Given the description of an element on the screen output the (x, y) to click on. 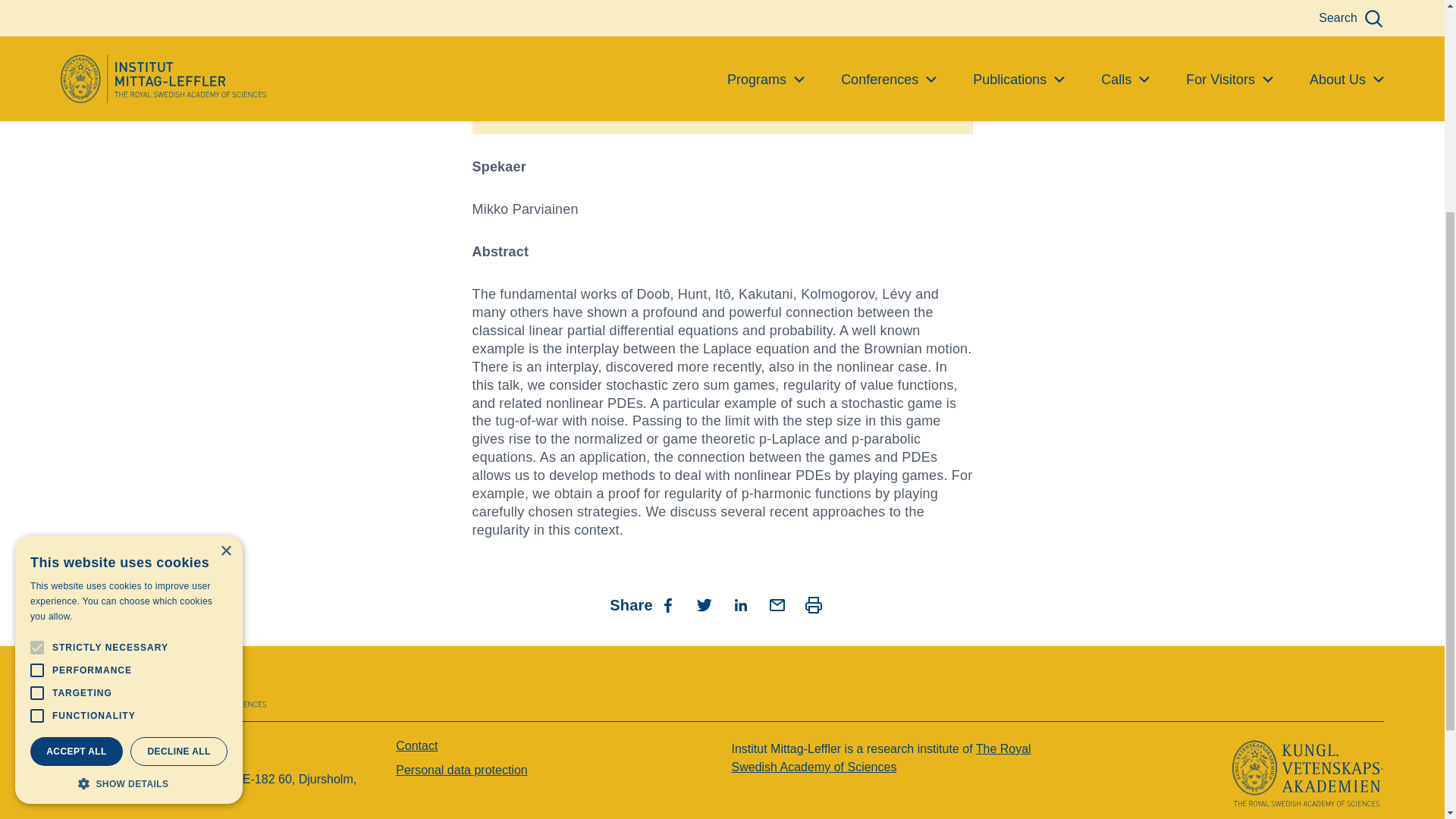
Share on Facebook (667, 605)
Print (812, 605)
The Royal Swedish Academy of Sciences (880, 757)
Share on linkedIn (740, 605)
Personal data protection (461, 769)
Contact (417, 745)
Share via mail (776, 605)
Share on twitter (703, 605)
